Given the description of an element on the screen output the (x, y) to click on. 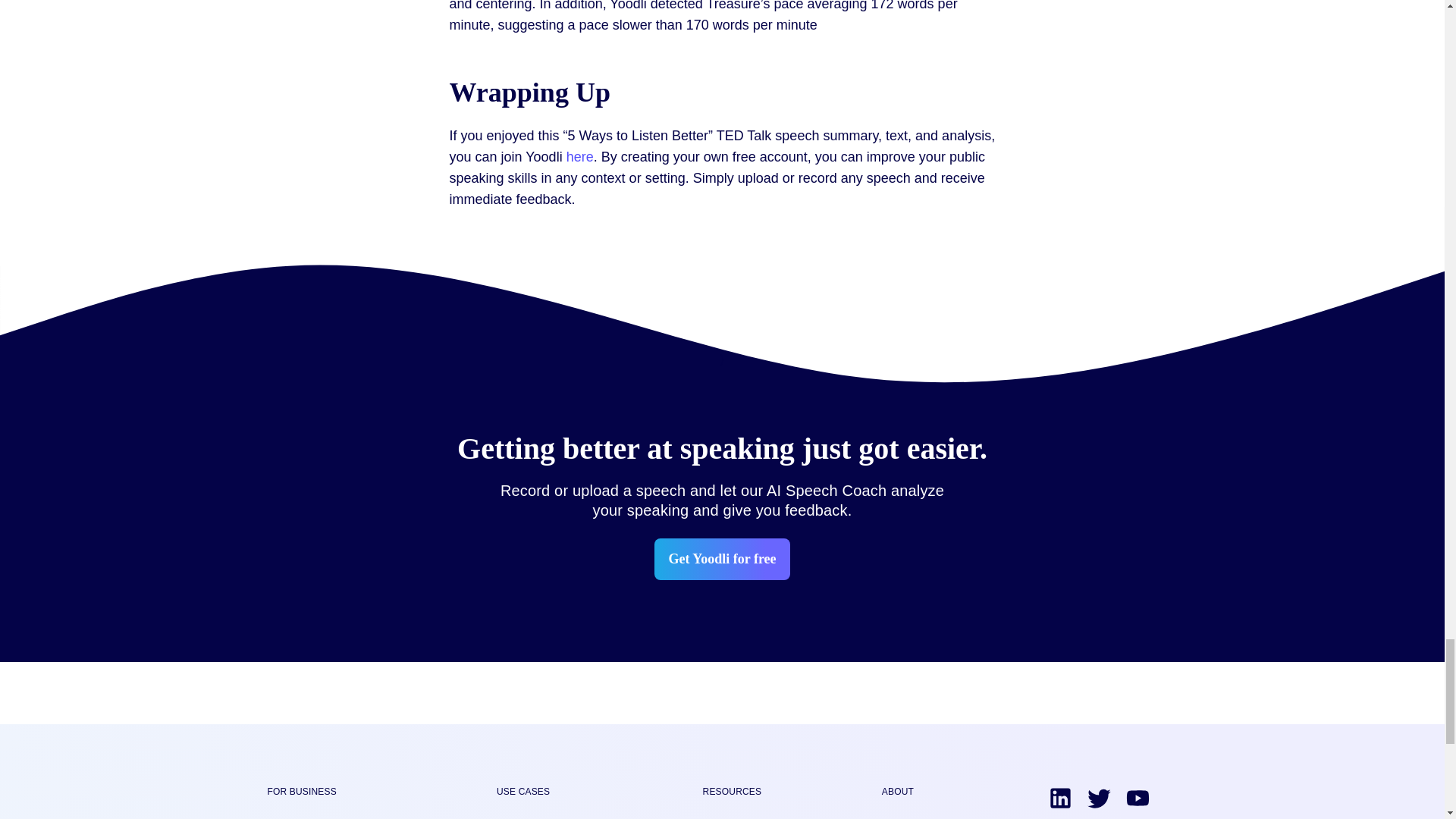
Get Yoodli for free (721, 558)
here (580, 156)
